Given the description of an element on the screen output the (x, y) to click on. 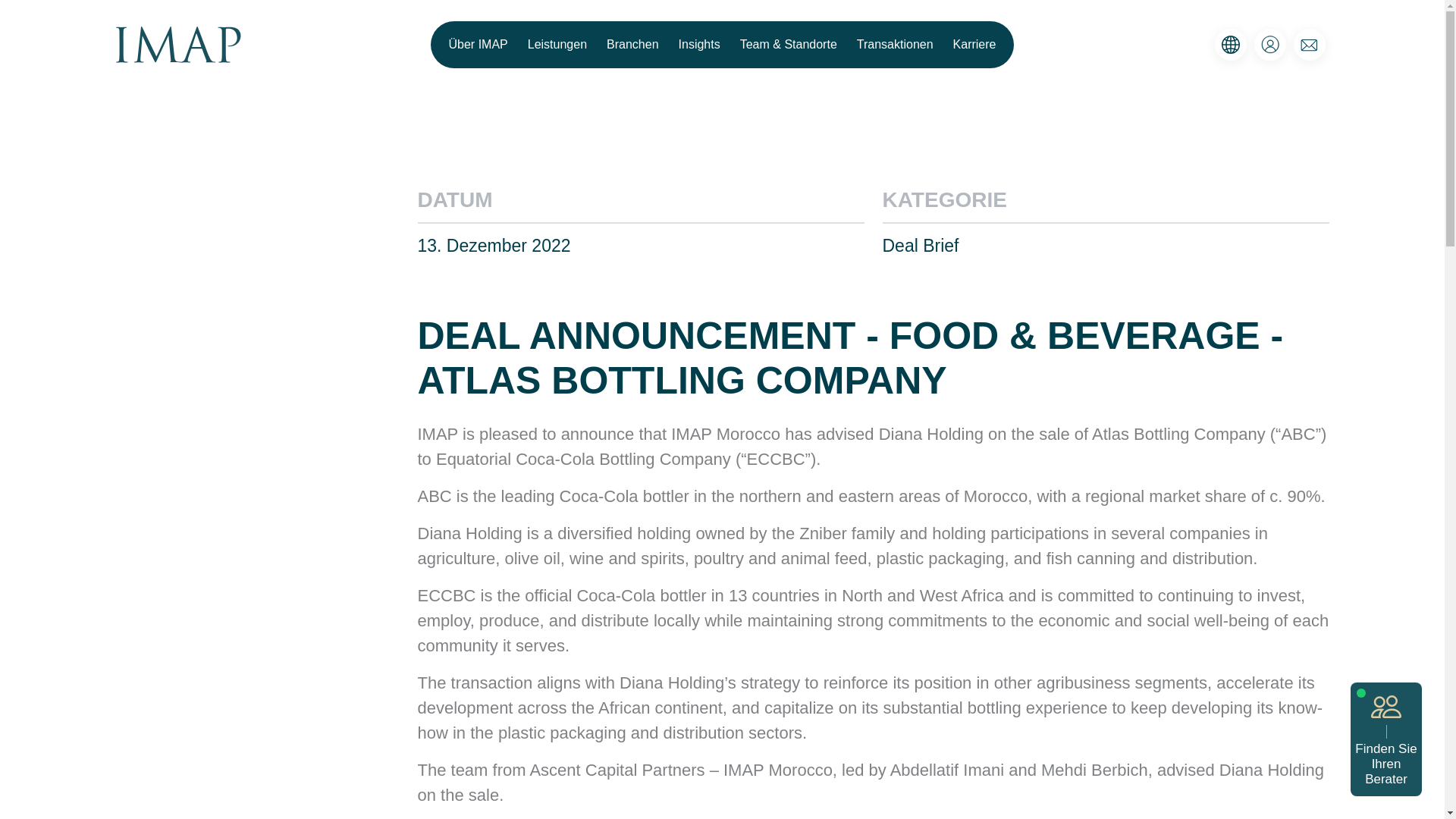
Branchen (632, 44)
Leistungen (556, 44)
Karriere (975, 44)
Transaktionen (894, 44)
1 (605, 506)
Insights (699, 44)
